Given the description of an element on the screen output the (x, y) to click on. 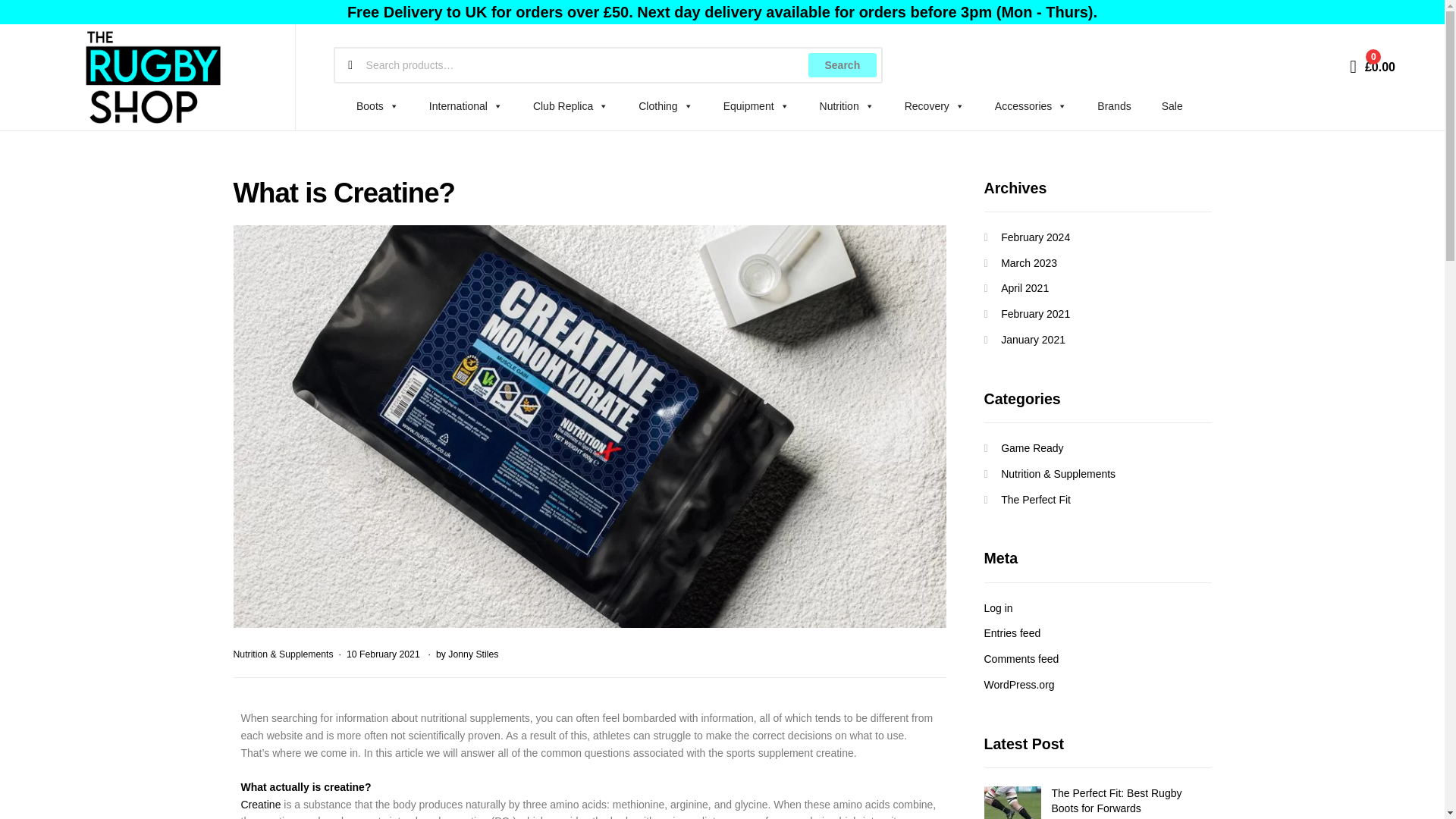
View your shopping cart (1371, 65)
Boots (376, 105)
Search (842, 64)
International (465, 105)
